Given the description of an element on the screen output the (x, y) to click on. 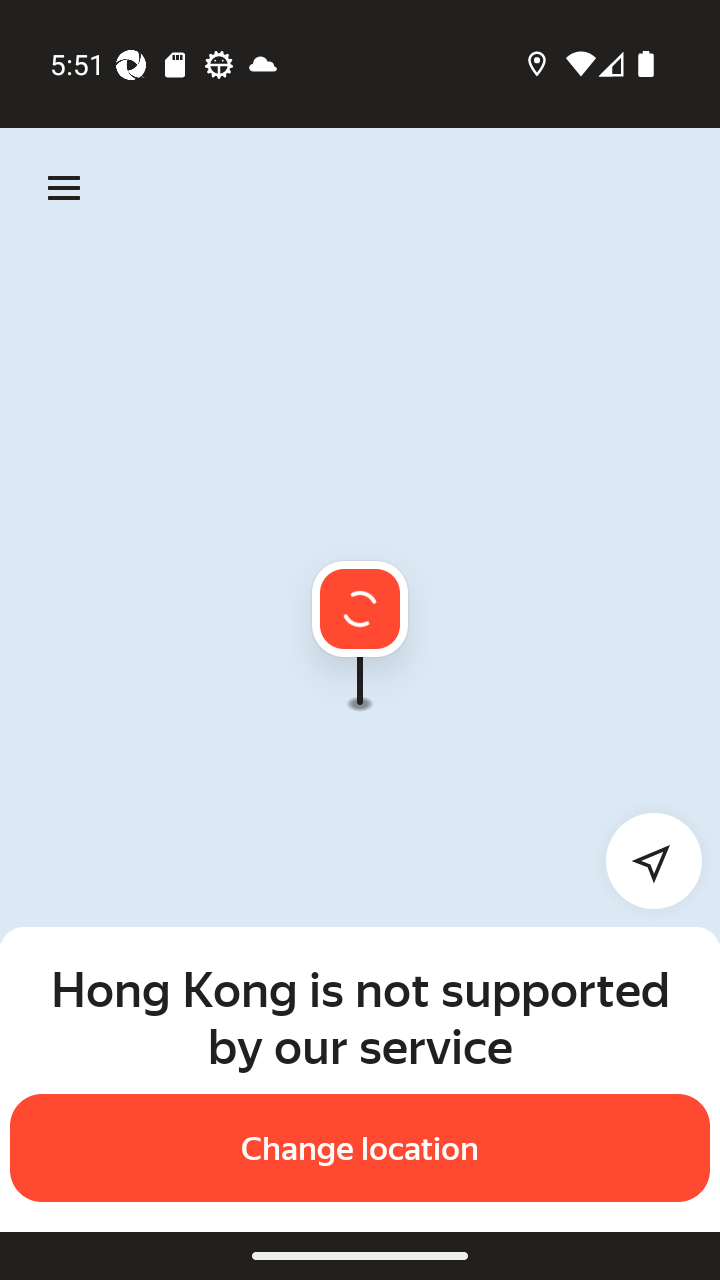
Menu Menu Menu (64, 188)
Detect my location (641, 860)
Hong Kong is not supported by our service (360, 1017)
Change location (359, 1147)
